Given the description of an element on the screen output the (x, y) to click on. 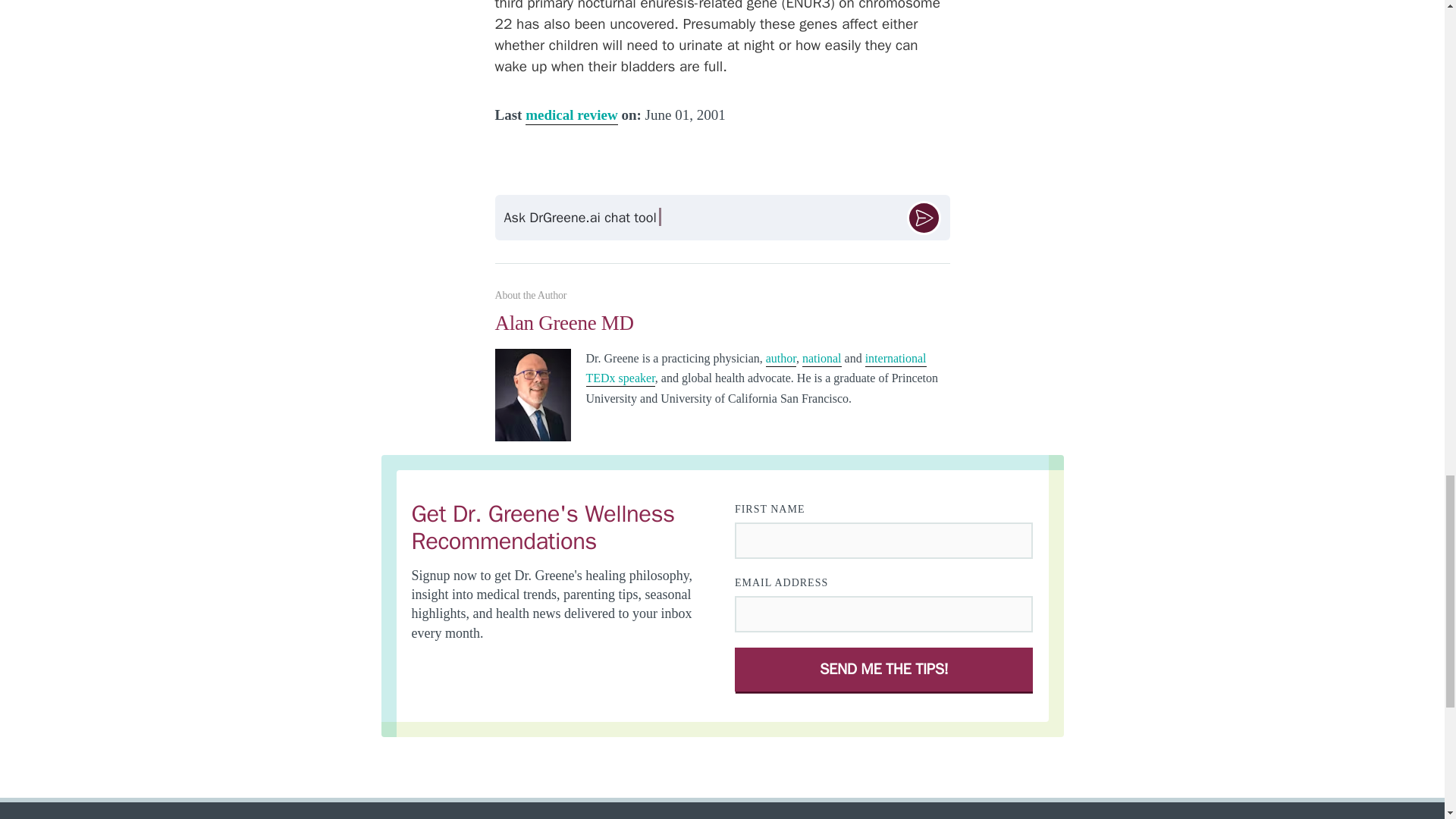
national (821, 359)
author (780, 359)
SEND ME THE TIPS! (884, 669)
Alan Greene MD (722, 330)
medical review (571, 116)
international TEDx speaker (755, 369)
